Given the description of an element on the screen output the (x, y) to click on. 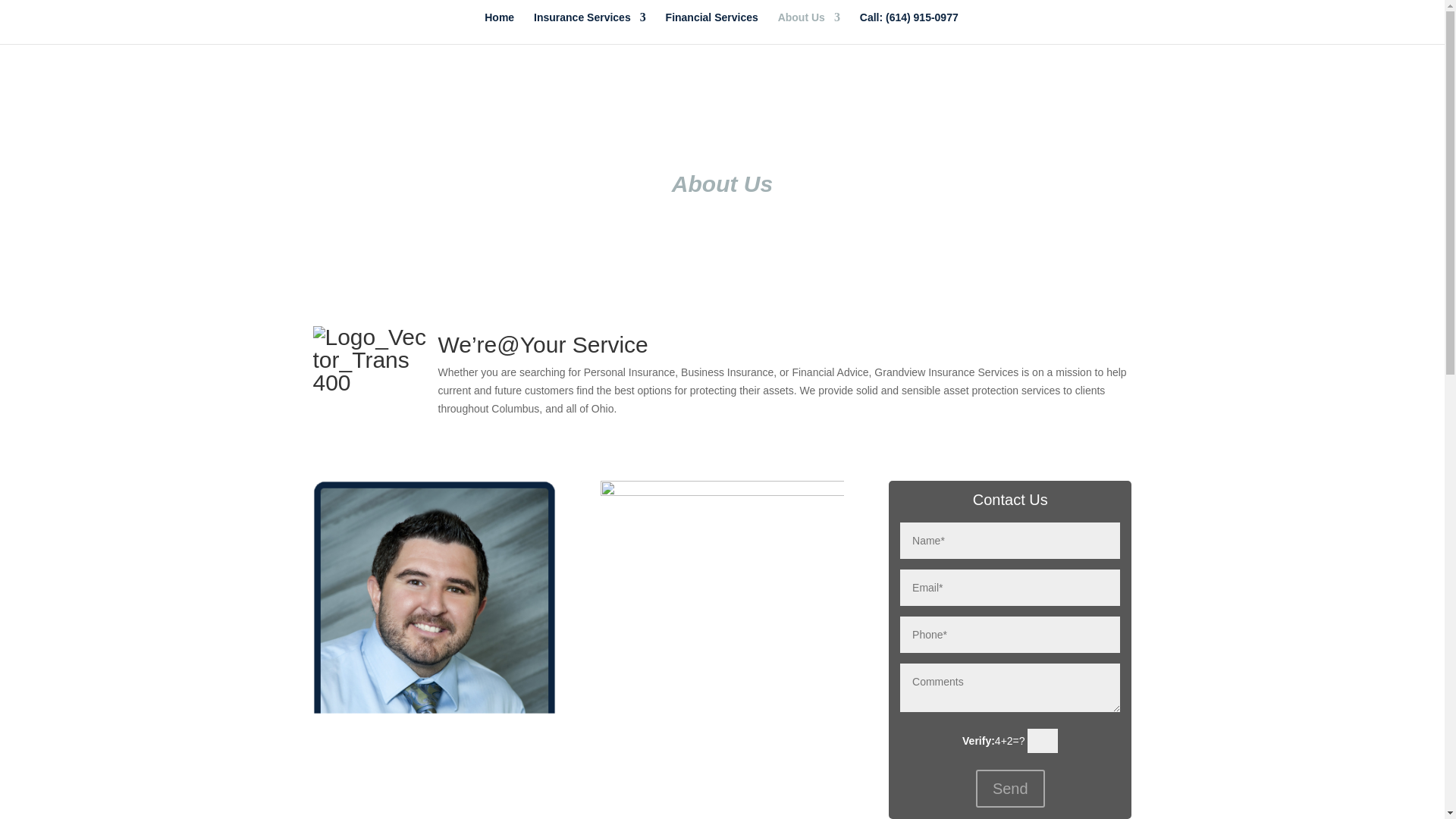
About Us (808, 28)
Financial Services (711, 28)
Insurance Services (590, 28)
Send (1010, 788)
Home (498, 28)
Send (1010, 788)
